Given the description of an element on the screen output the (x, y) to click on. 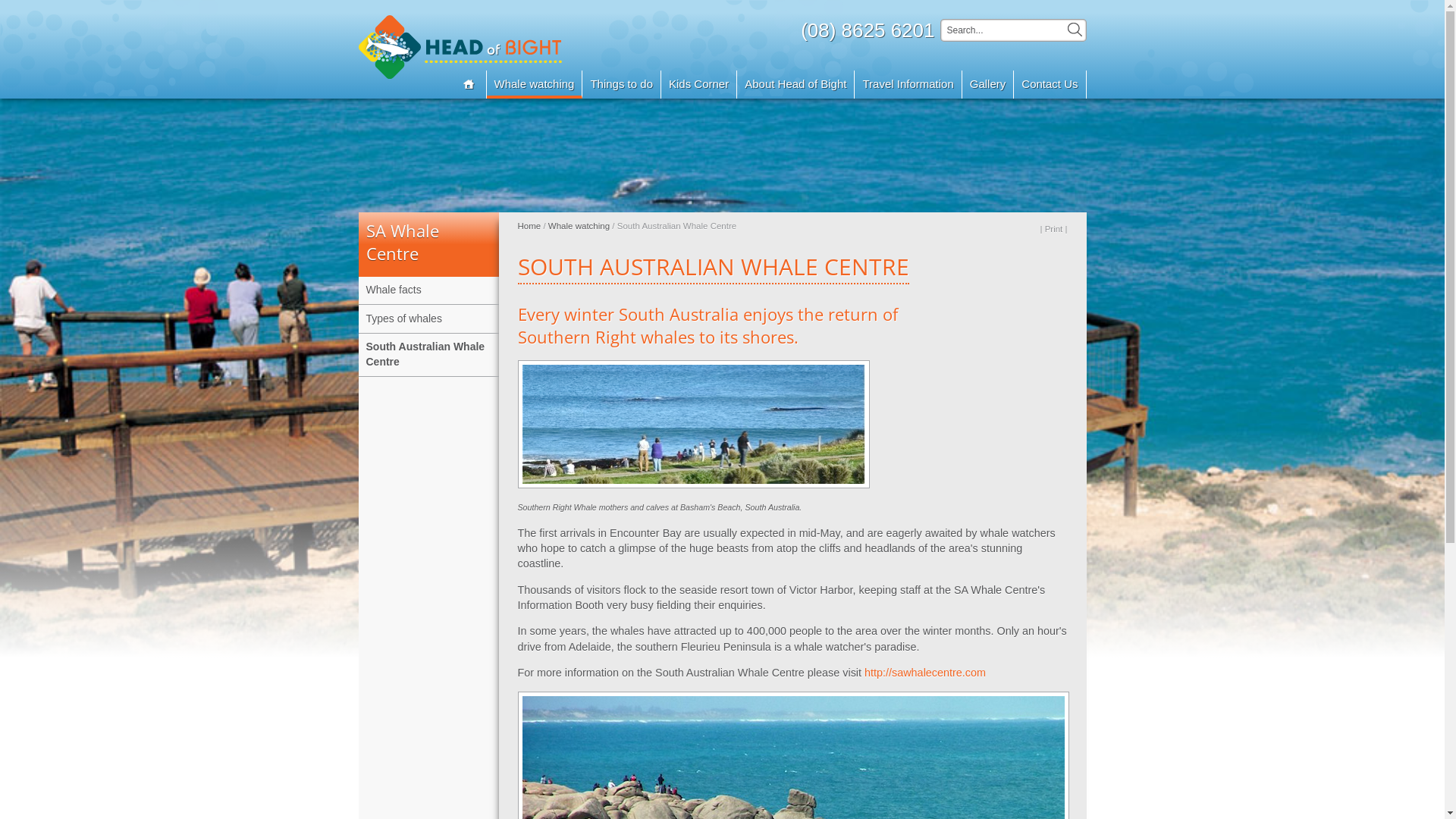
| Print | Element type: text (1052, 228)
Whale facts Element type: text (427, 290)
Home Element type: text (465, 84)
http://sawhalecentre.com Element type: text (924, 672)
Search Element type: text (1074, 29)
Whale watching Element type: text (534, 84)
Contact Us Element type: text (1049, 84)
South Australian Whale Centre Element type: text (427, 354)
Gallery Element type: text (988, 84)
Whale watching Element type: text (578, 225)
About Head of Bight Element type: text (795, 84)
Types of whales Element type: text (427, 318)
Home Element type: text (528, 225)
Travel Information Element type: text (907, 84)
Things to do Element type: text (621, 84)
Kids Corner Element type: text (699, 84)
